Given the description of an element on the screen output the (x, y) to click on. 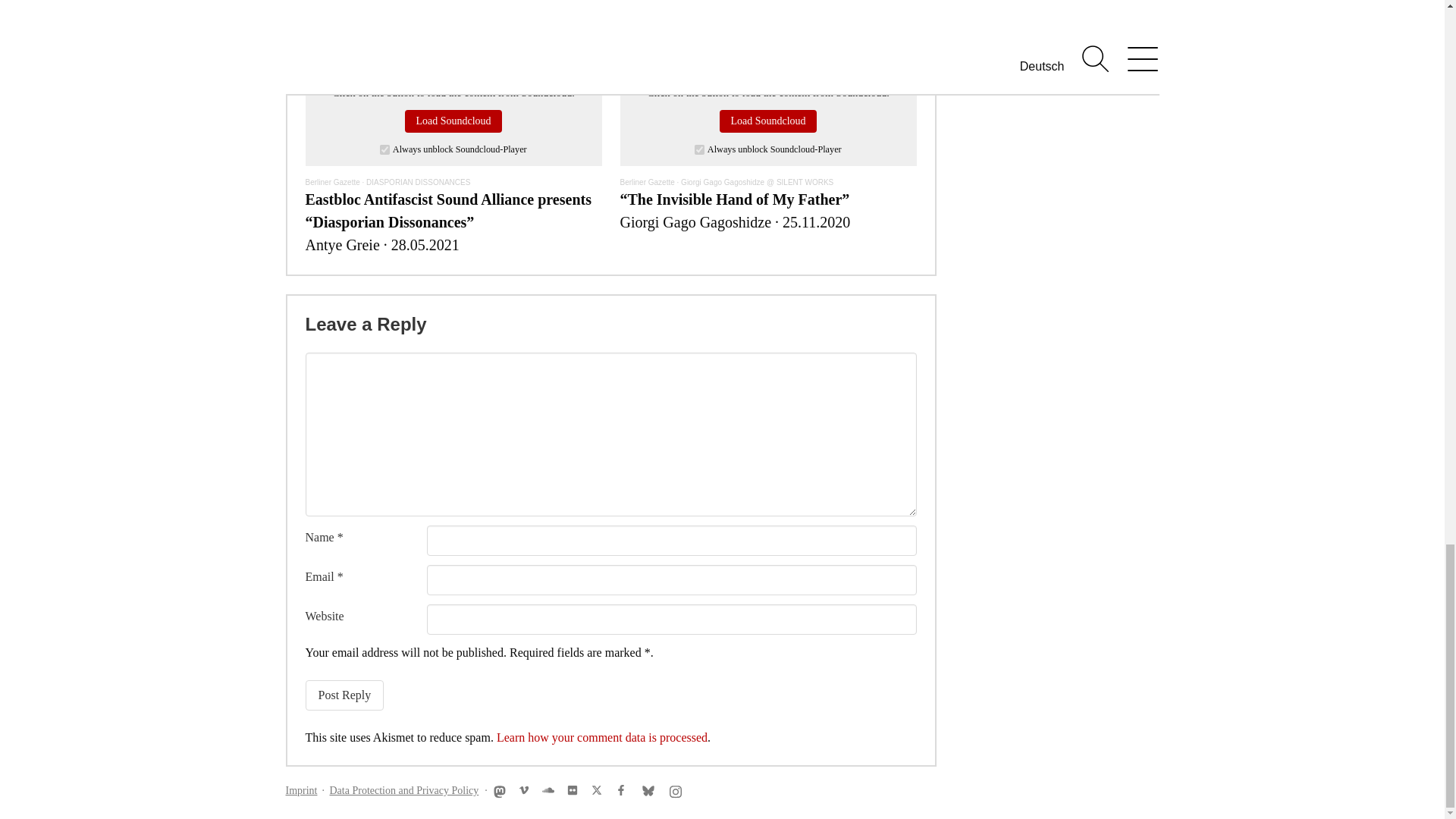
1 (699, 149)
Post Reply (344, 695)
1 (385, 149)
